Given the description of an element on the screen output the (x, y) to click on. 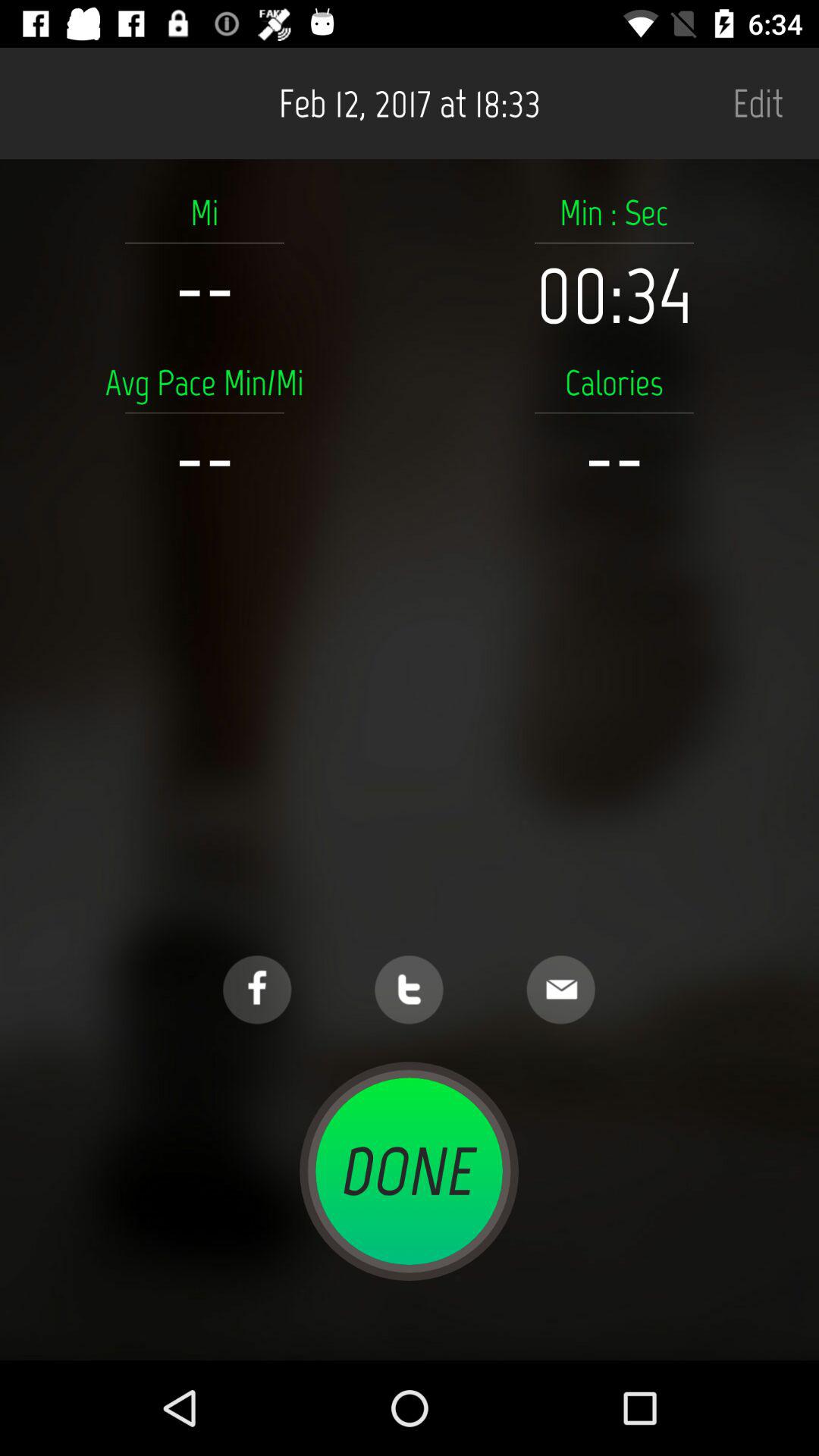
send email (560, 989)
